Given the description of an element on the screen output the (x, y) to click on. 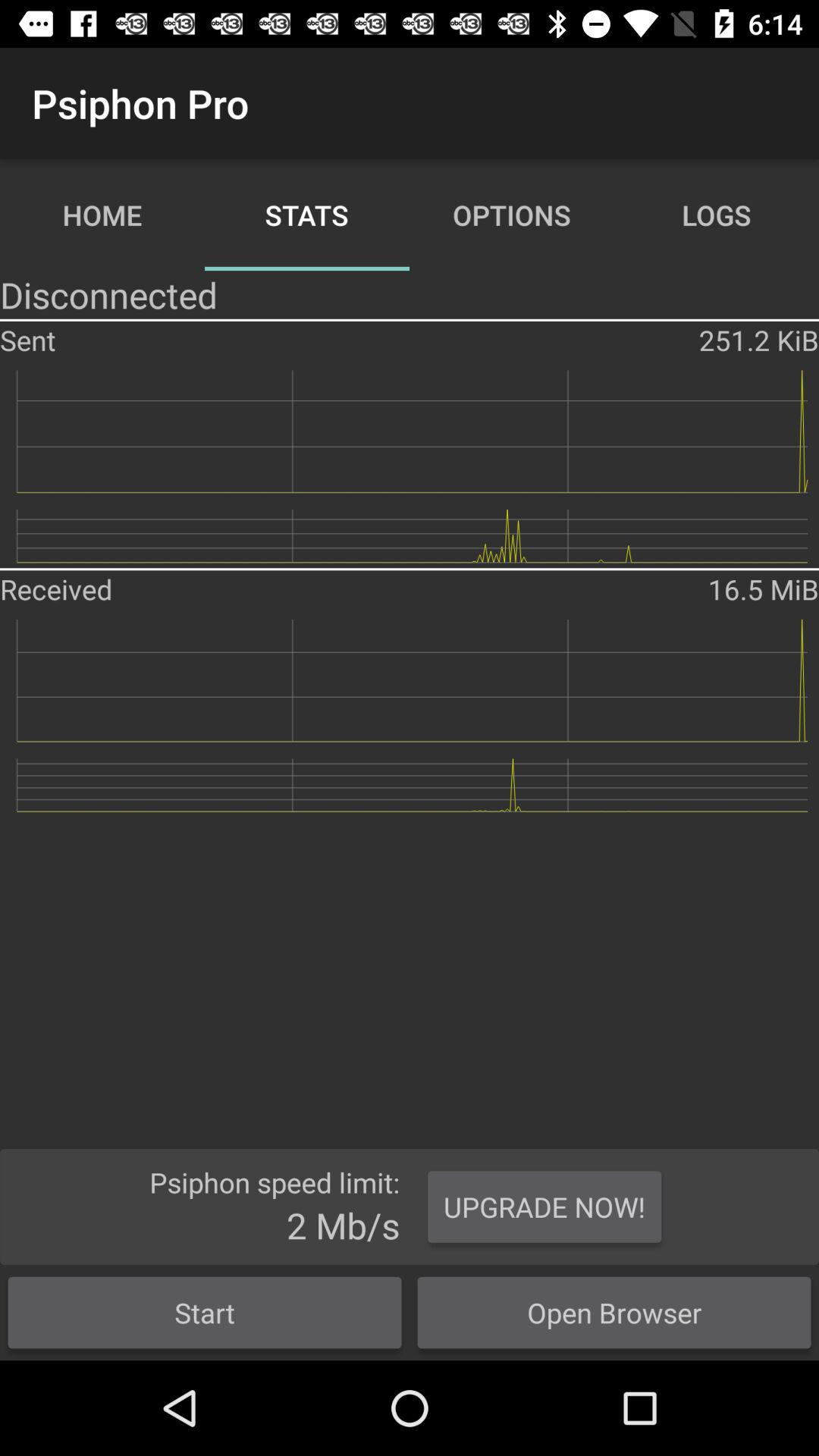
select the icon below 2 mb/s app (204, 1312)
